Given the description of an element on the screen output the (x, y) to click on. 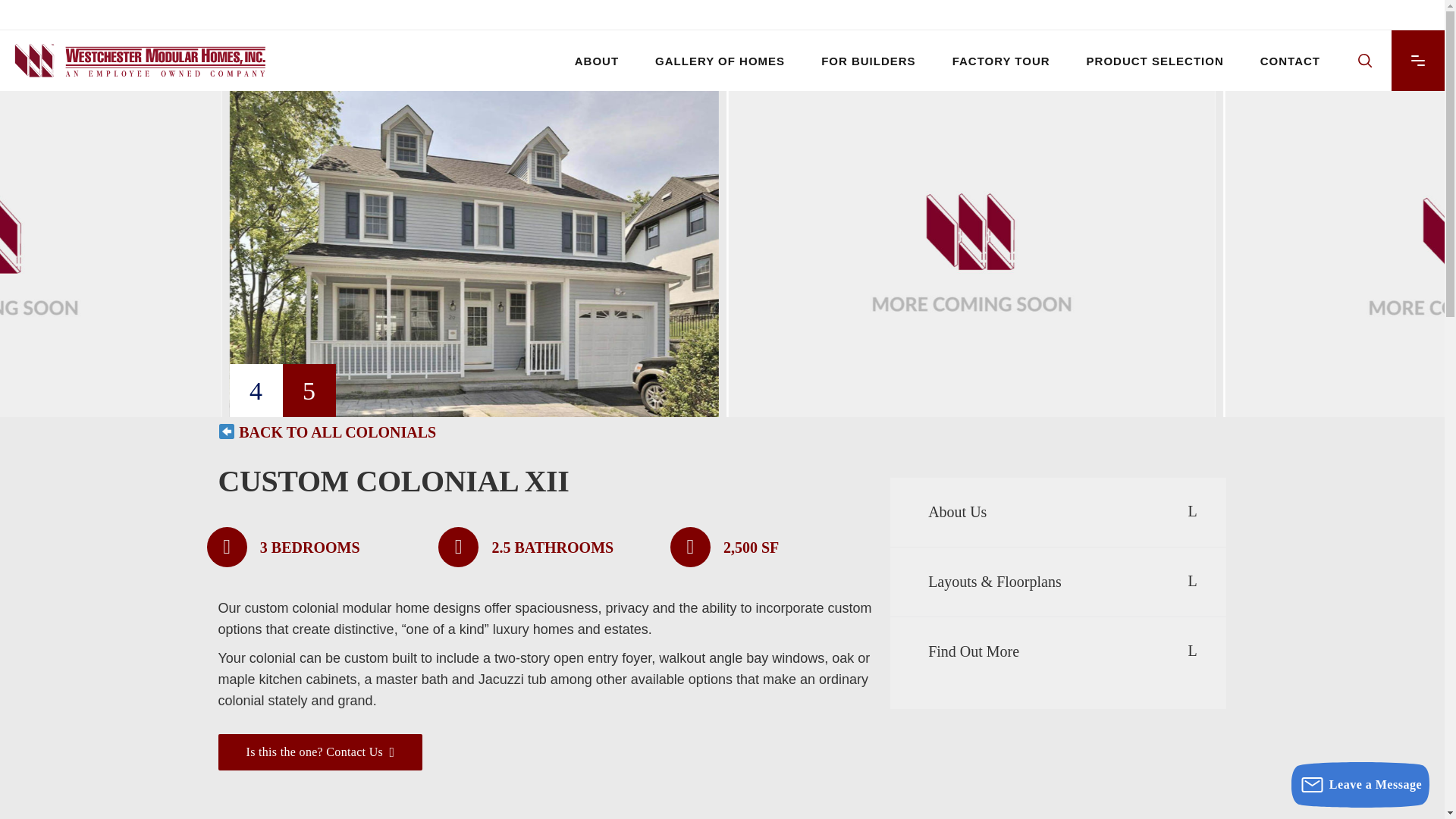
FACTORY TOUR (1001, 59)
CONTACT (1289, 59)
ABOUT (596, 59)
FOR BUILDERS (868, 59)
GALLERY OF HOMES (720, 59)
PRODUCT SELECTION (1154, 59)
